Given the description of an element on the screen output the (x, y) to click on. 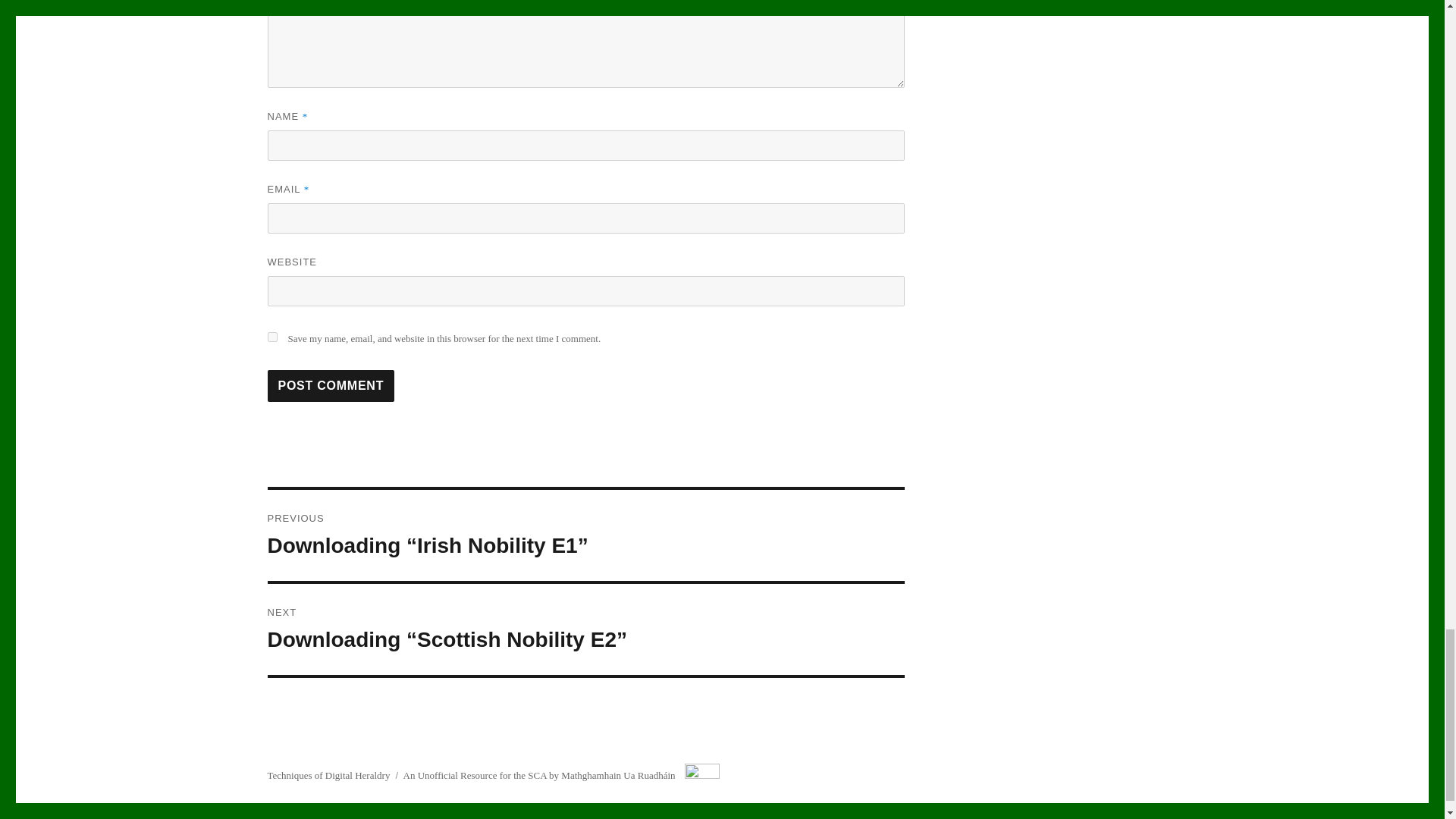
Post Comment (330, 386)
yes (271, 337)
Post Comment (330, 386)
